Given the description of an element on the screen output the (x, y) to click on. 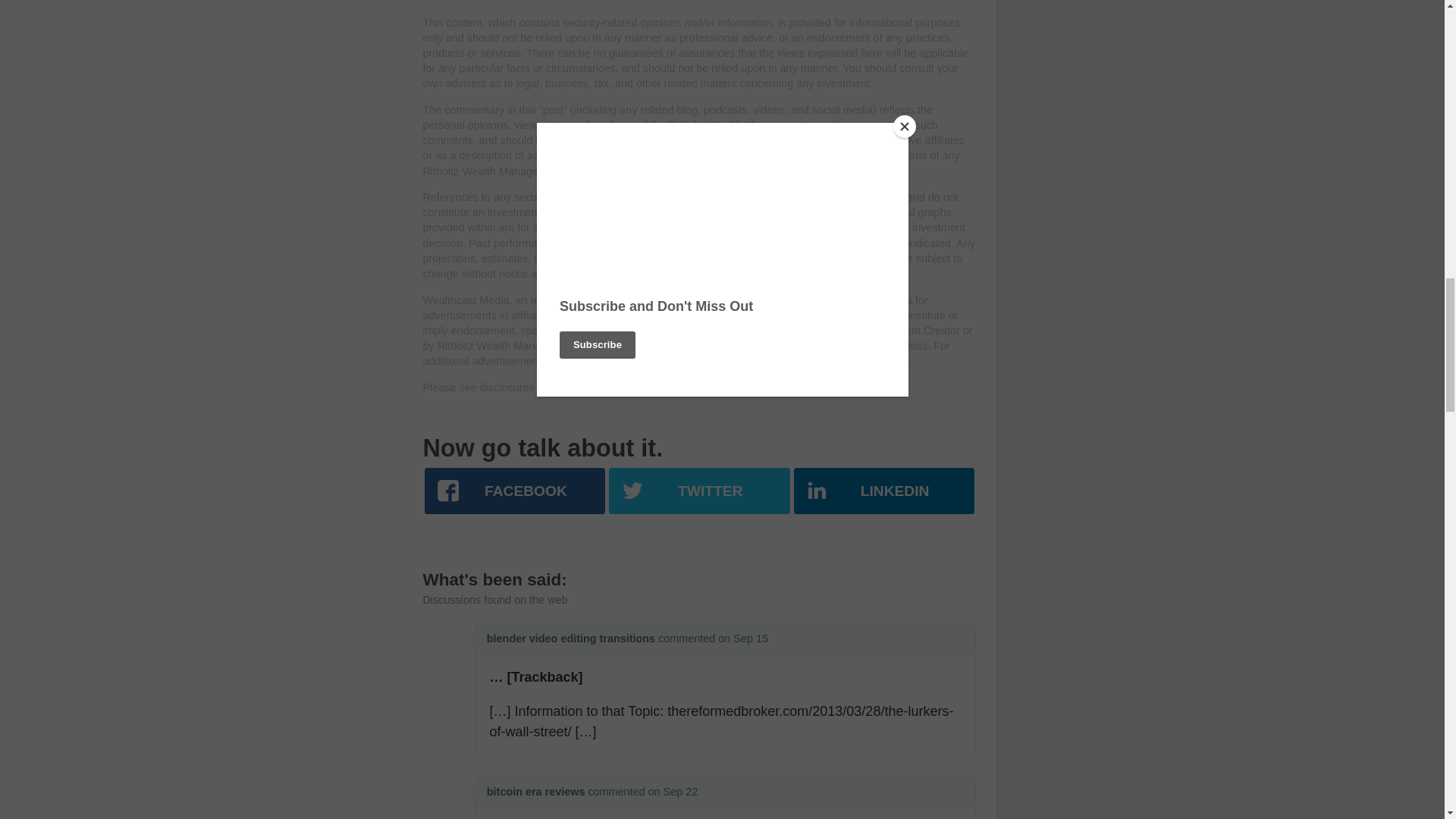
TWITTER (698, 490)
blender video editing transitions (570, 638)
FACEBOOK (515, 490)
bitcoin era reviews (535, 791)
LINKEDIN (883, 490)
here. (549, 387)
